Given the description of an element on the screen output the (x, y) to click on. 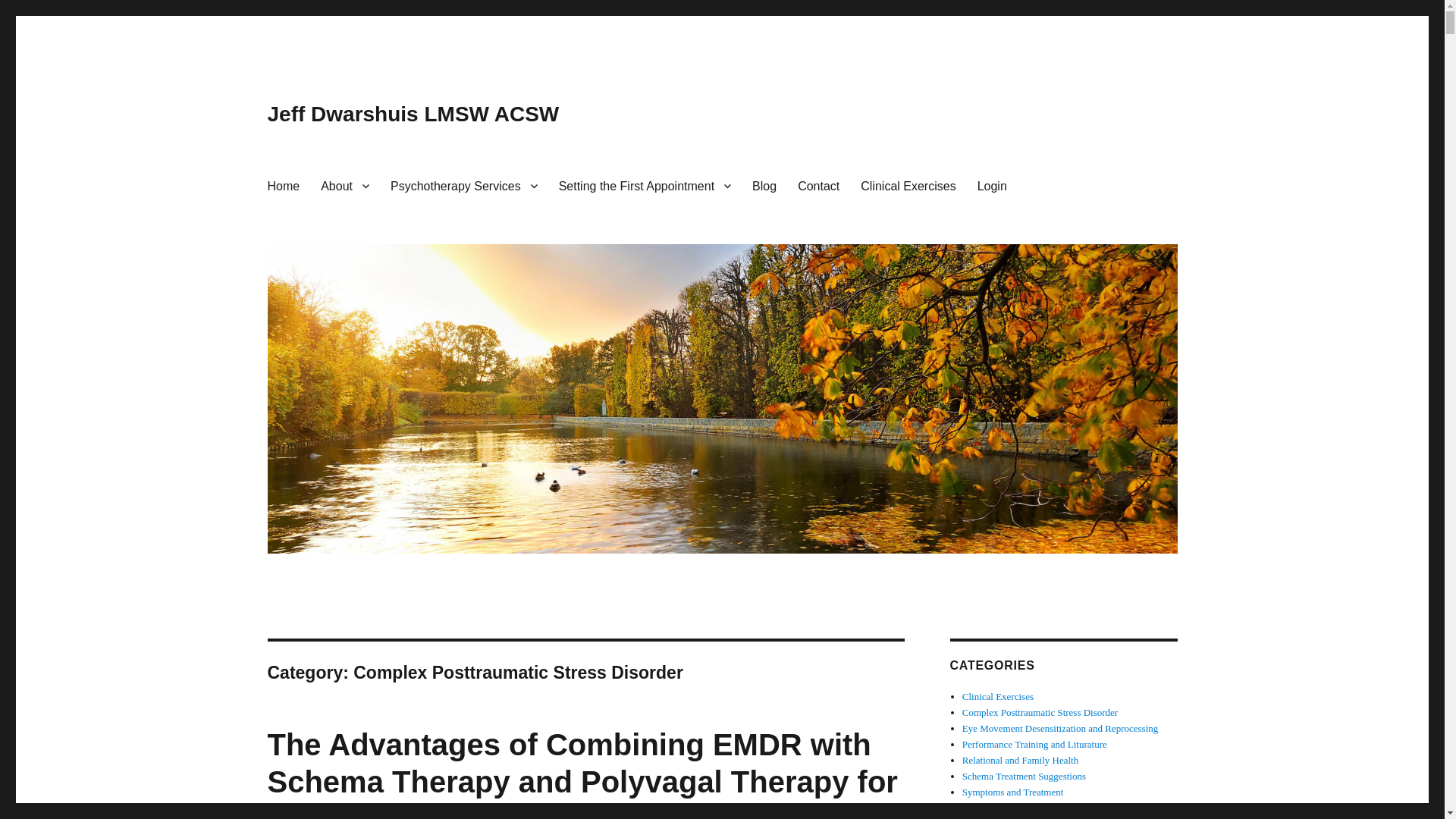
Psychotherapy Services (464, 185)
Clinical Exercises (908, 185)
About (345, 185)
Blog (764, 185)
Contact (818, 185)
Setting the First Appointment (644, 185)
Login (991, 185)
Home (283, 185)
Jeff Dwarshuis LMSW ACSW (412, 114)
